Given the description of an element on the screen output the (x, y) to click on. 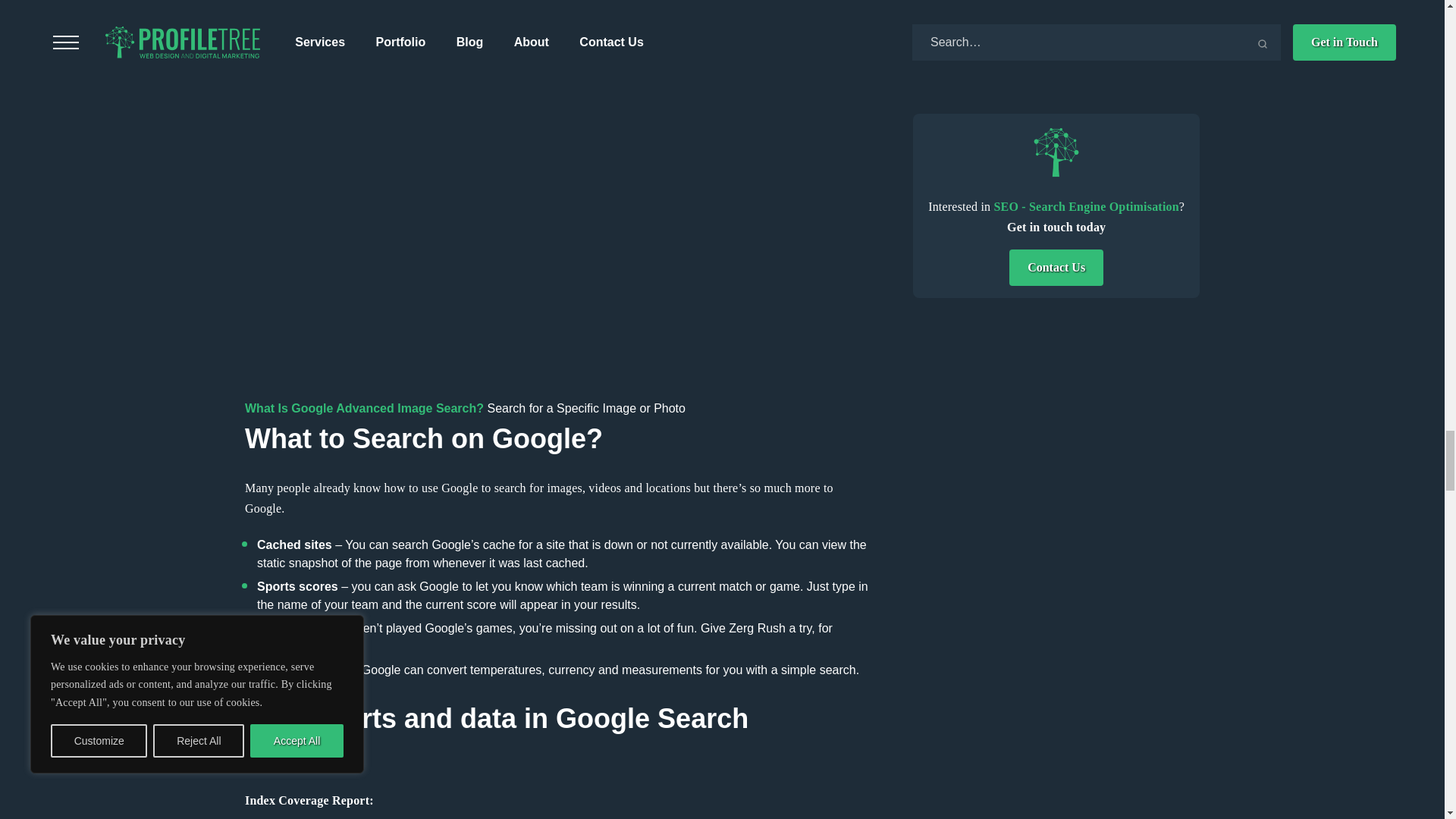
What Is Google Advanced Image Search? (363, 408)
